Given the description of an element on the screen output the (x, y) to click on. 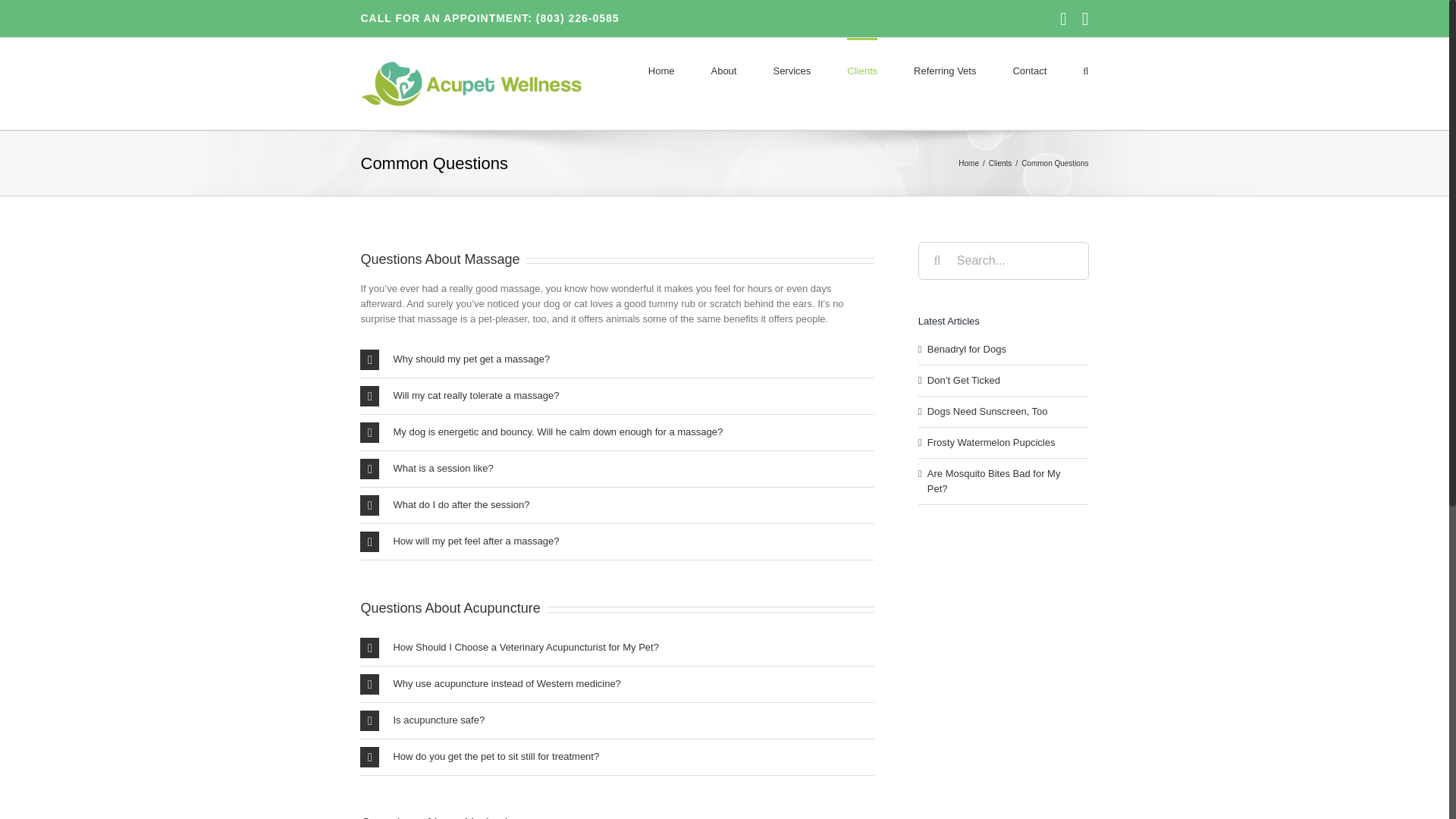
Referring Vets (944, 69)
